Given the description of an element on the screen output the (x, y) to click on. 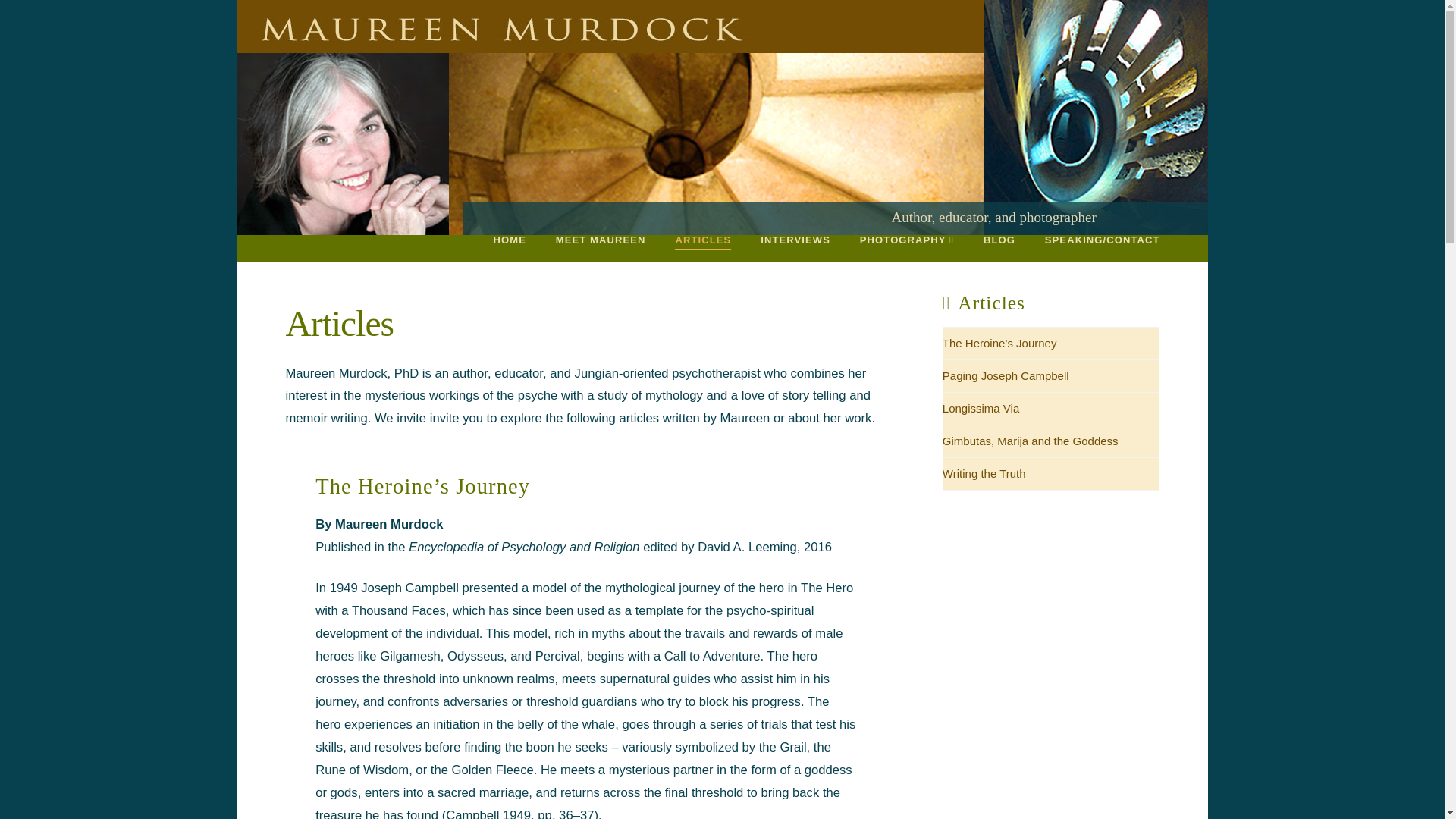
Longissima Via (980, 408)
PHOTOGRAPHY (906, 248)
BLOG (998, 248)
INTERVIEWS (794, 248)
HOME (509, 248)
Writing the Truth (984, 474)
ARTICLES (702, 248)
Gimbutas, Marija and the Goddess (1030, 441)
MEET MAUREEN (600, 248)
